Given the description of an element on the screen output the (x, y) to click on. 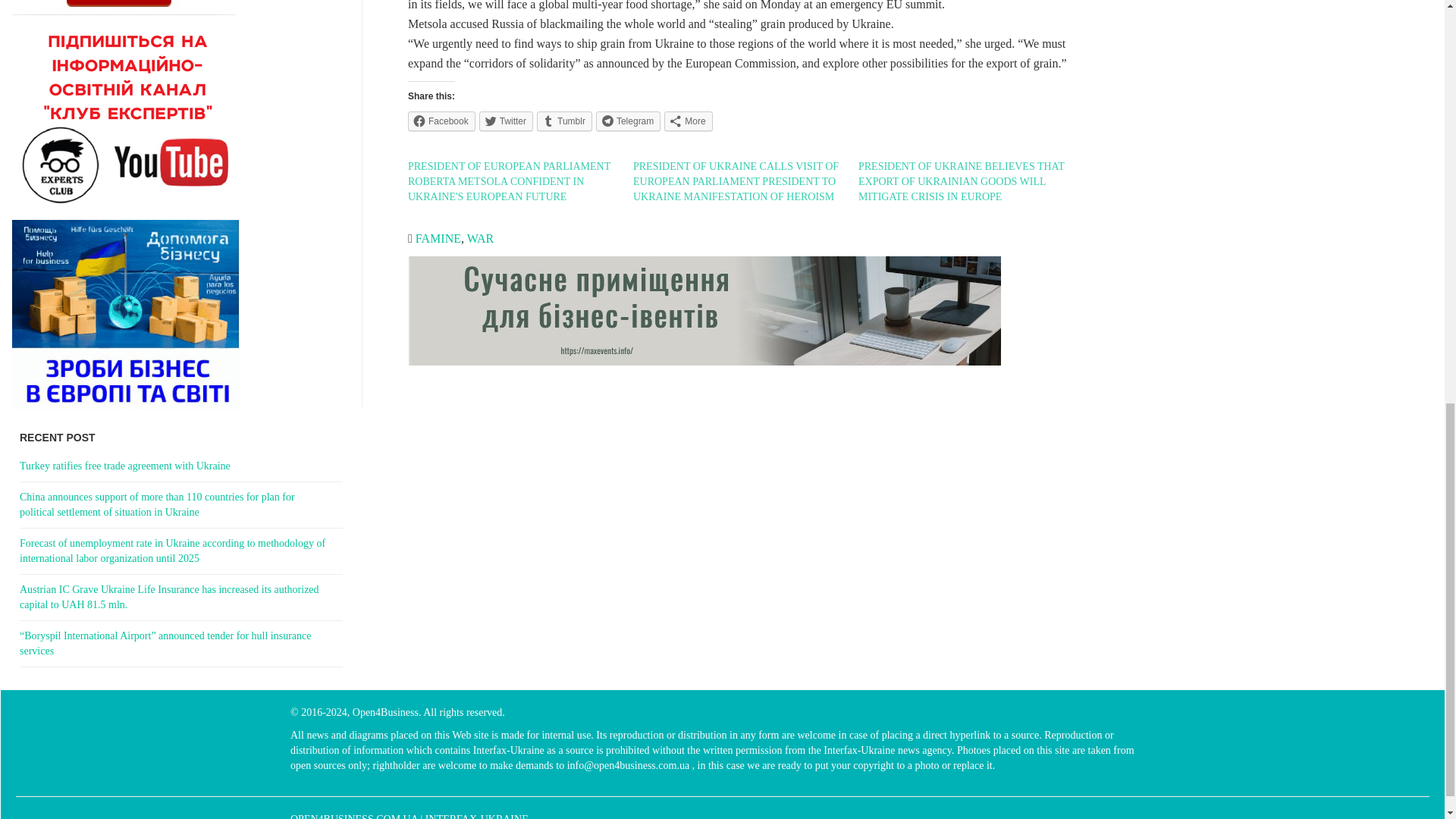
Tumblr (564, 121)
FAMINE (437, 237)
Facebook (441, 121)
WAR (481, 237)
Telegram (628, 121)
Twitter (505, 121)
More (687, 121)
